Given the description of an element on the screen output the (x, y) to click on. 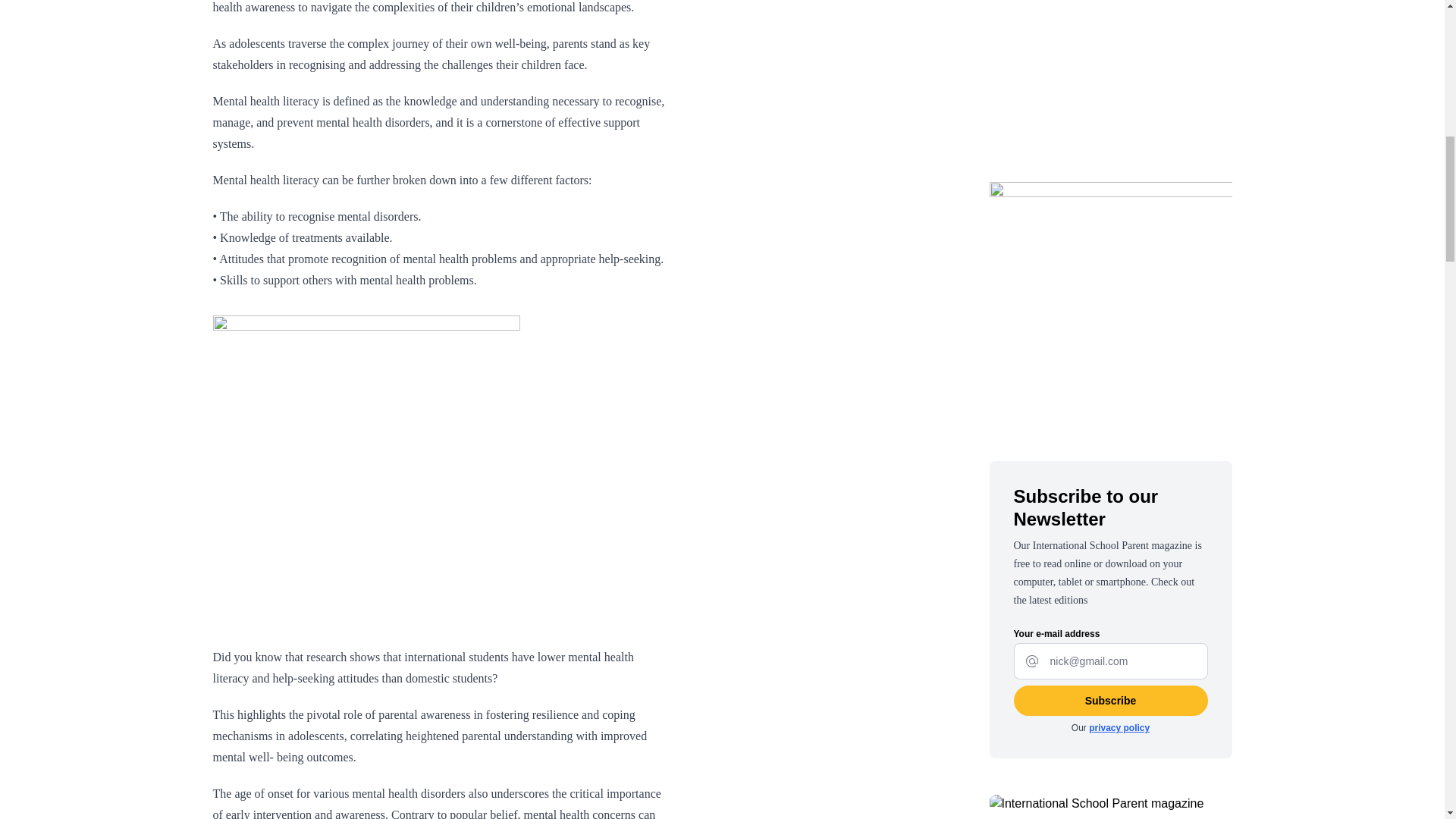
privacy policy (1119, 727)
Subscribe (1110, 700)
Subscribe (1110, 700)
